Given the description of an element on the screen output the (x, y) to click on. 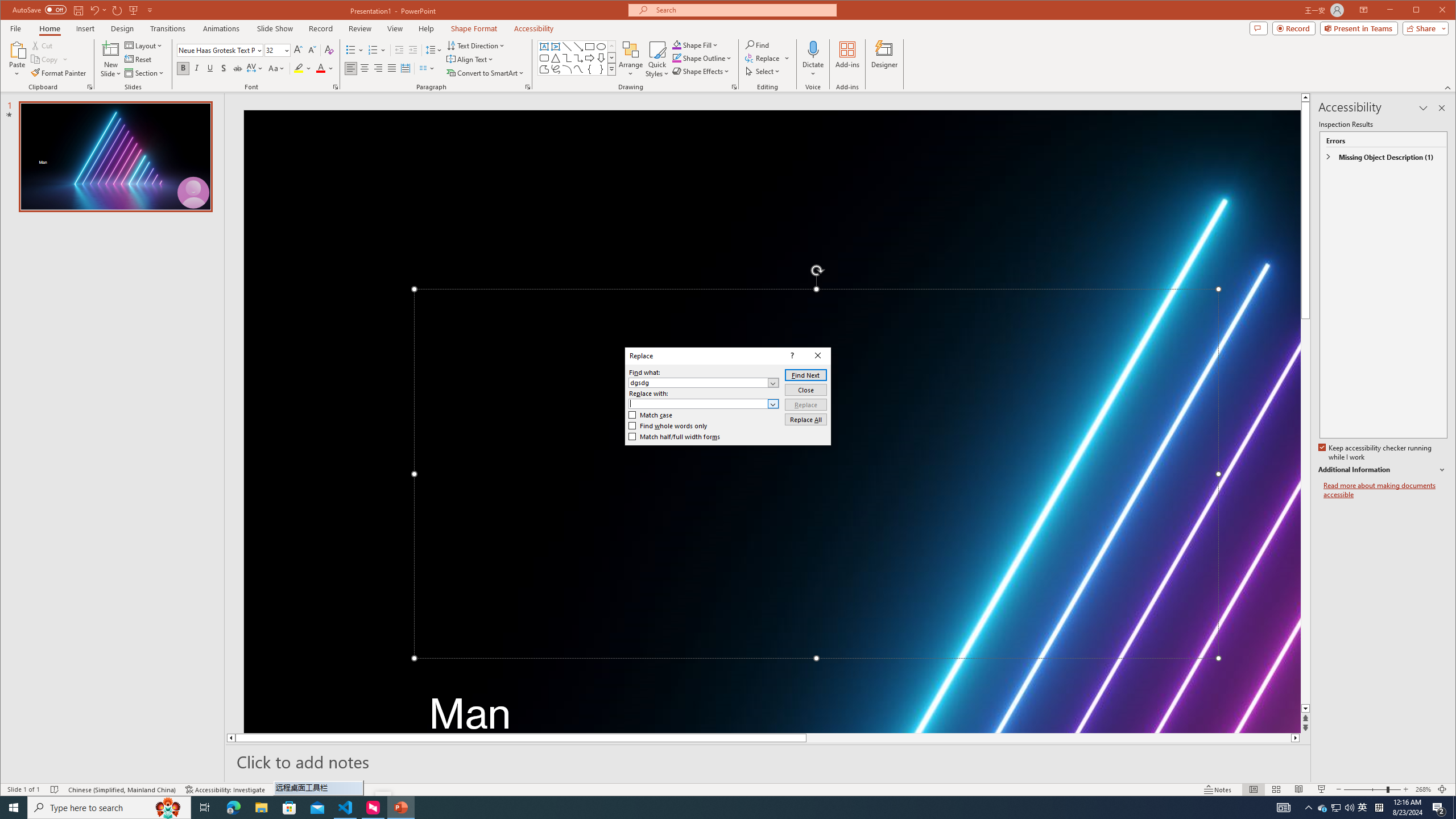
Context help (791, 355)
